Given the description of an element on the screen output the (x, y) to click on. 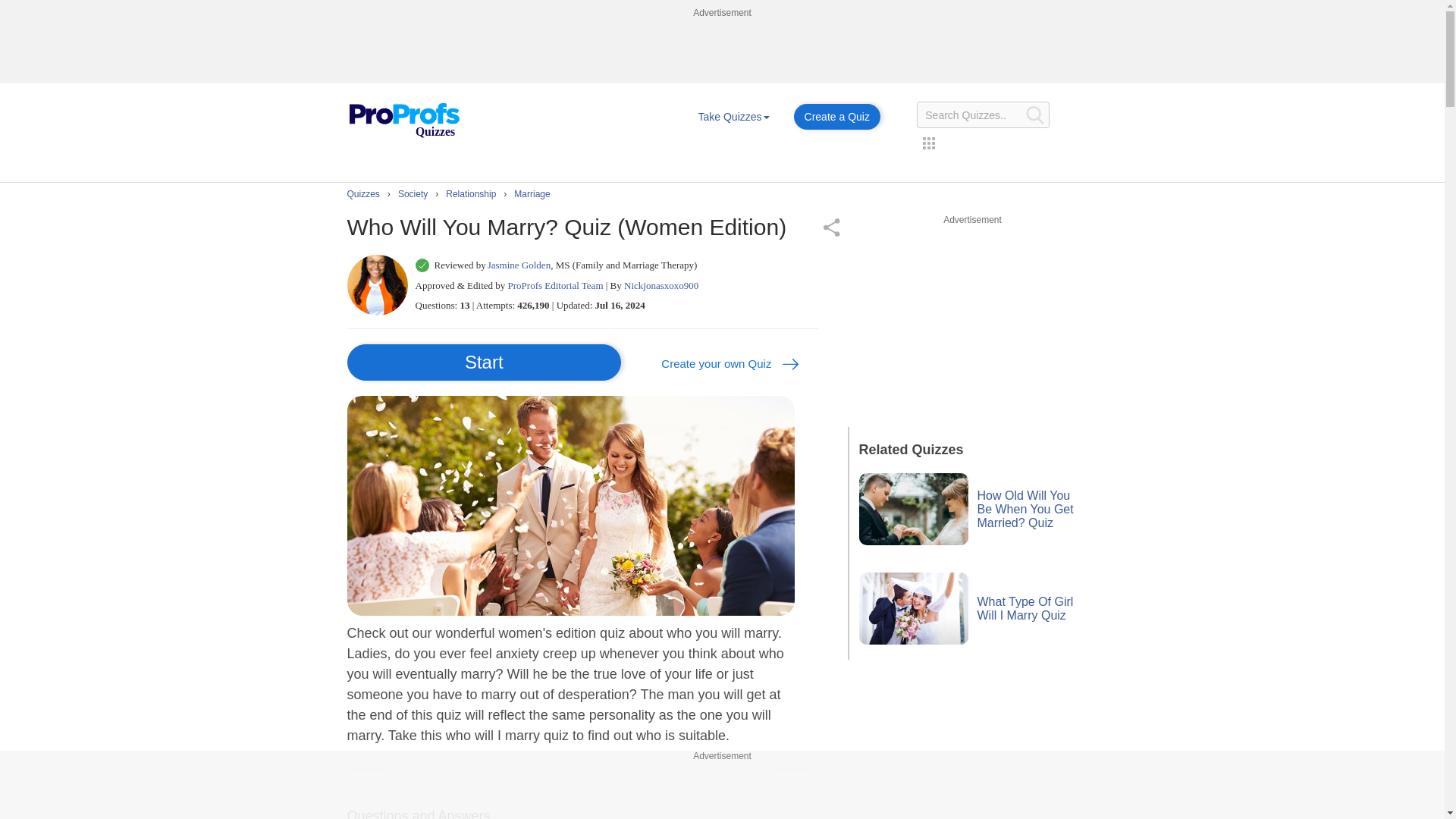
Quizzes (403, 109)
Browse (733, 116)
Quizzes (403, 120)
Take Quizzes (733, 116)
Create a Quiz (836, 116)
